Given the description of an element on the screen output the (x, y) to click on. 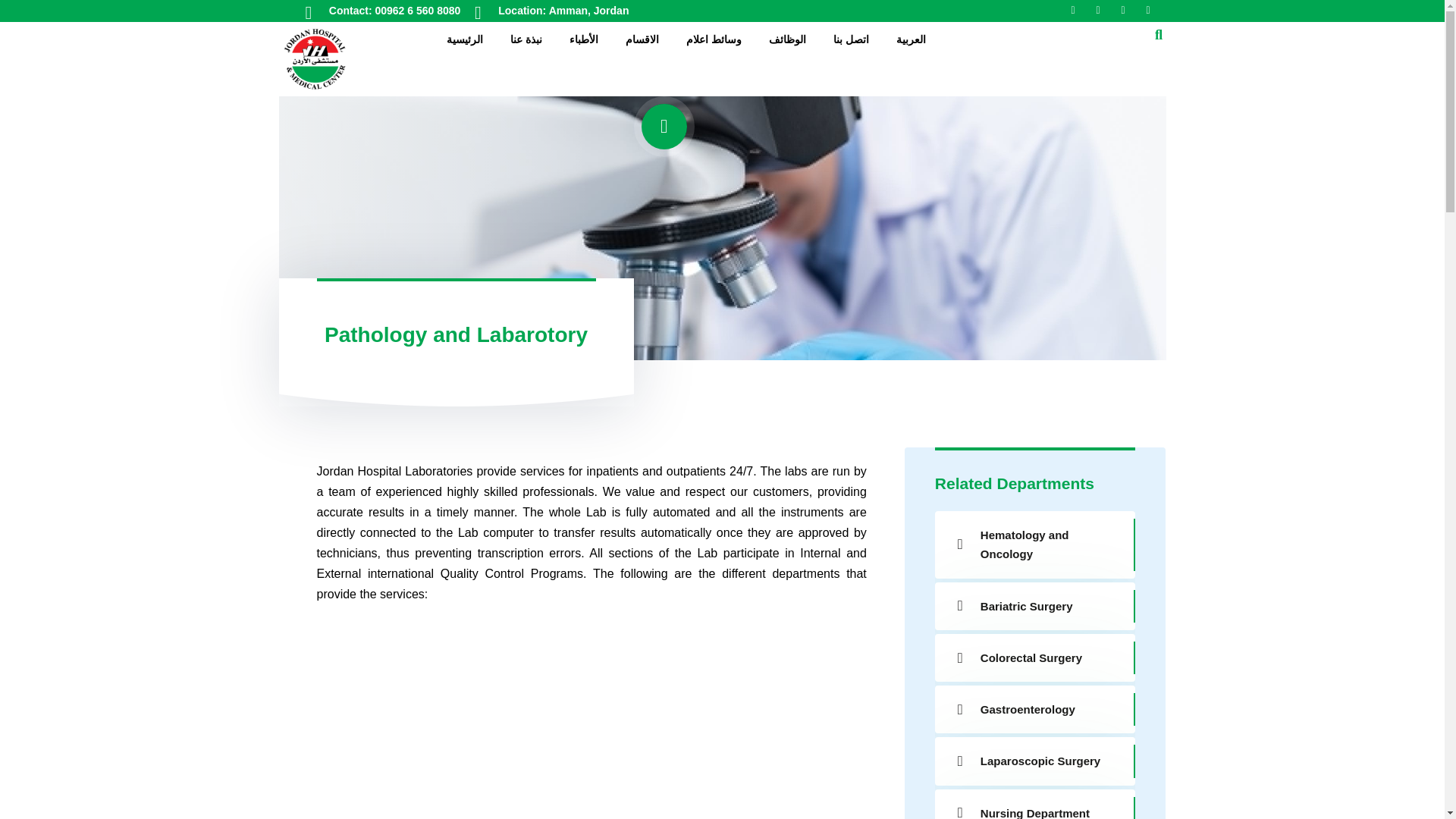
Contact: 00962 6 560 8080 (395, 10)
Location: Amman, Jordan (562, 10)
